Given the description of an element on the screen output the (x, y) to click on. 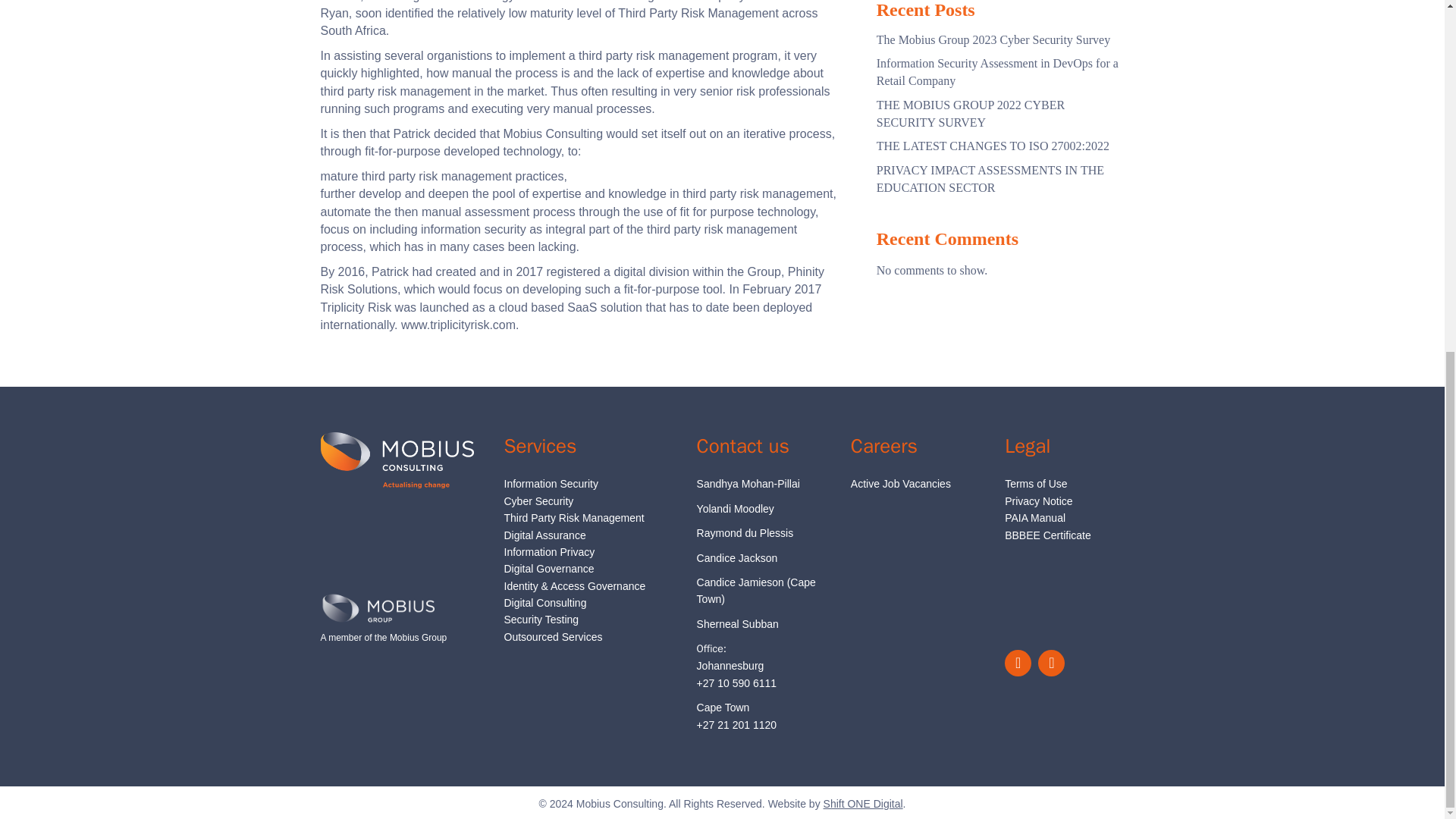
Mobius-2019-Logo-CMYK-768x281 (396, 460)
Mobius-Group-2019-Logo-CMYK-White (376, 608)
